Given the description of an element on the screen output the (x, y) to click on. 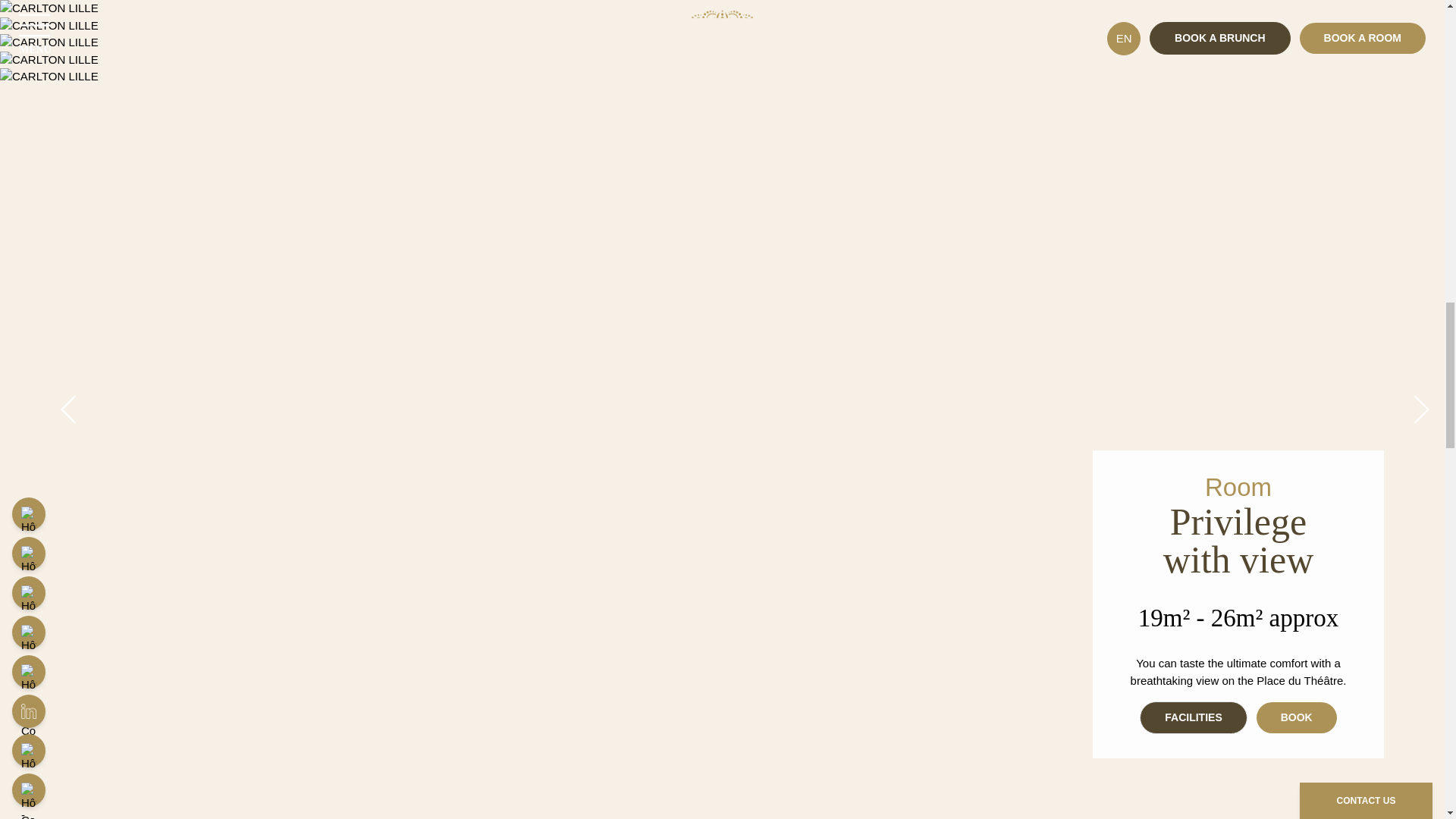
FACILITIES (1193, 717)
BOOK (1296, 717)
